Given the description of an element on the screen output the (x, y) to click on. 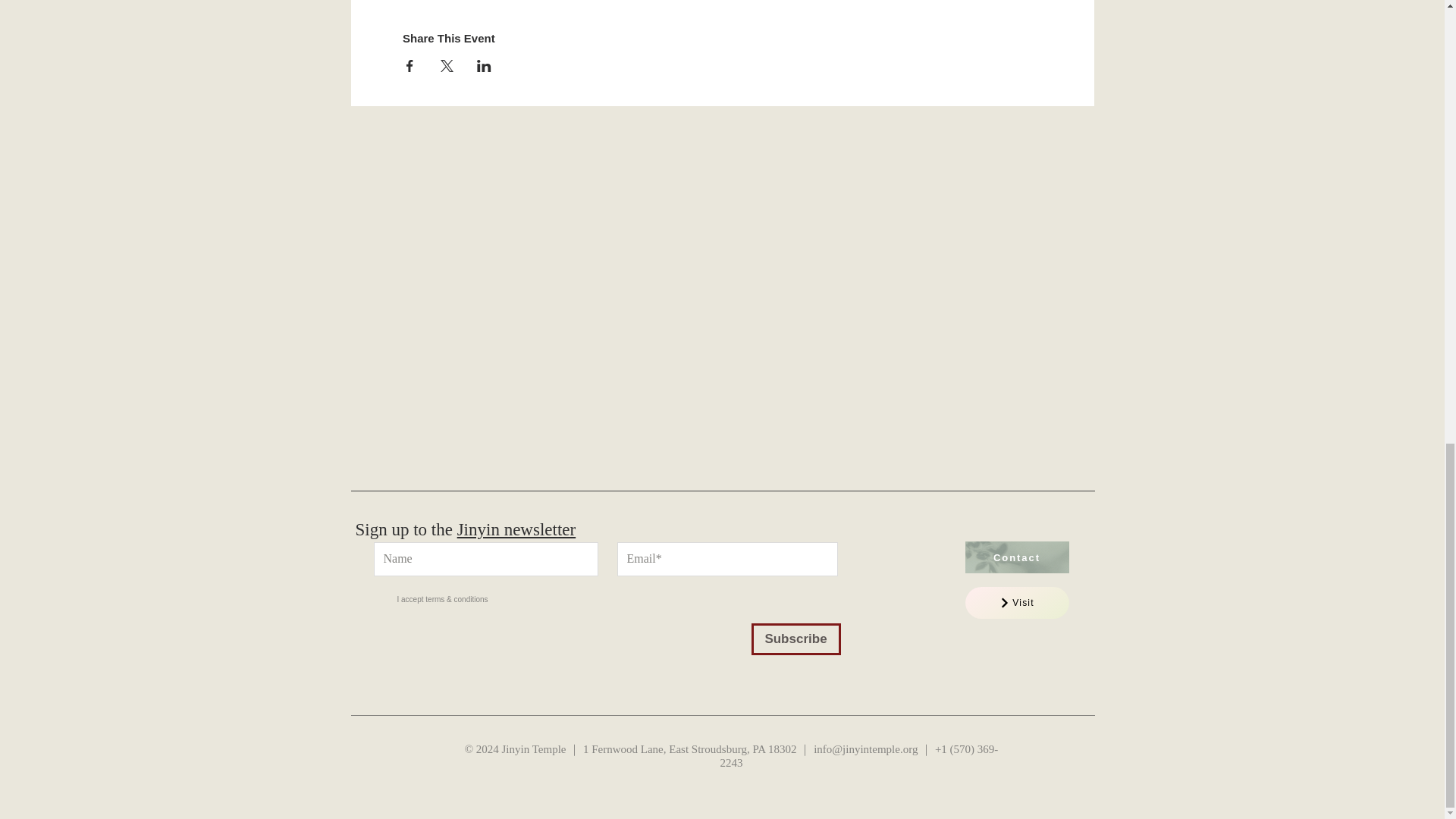
Jinyin newsletter (516, 529)
Contact (1015, 557)
Subscribe (795, 639)
Visit (1015, 603)
